Given the description of an element on the screen output the (x, y) to click on. 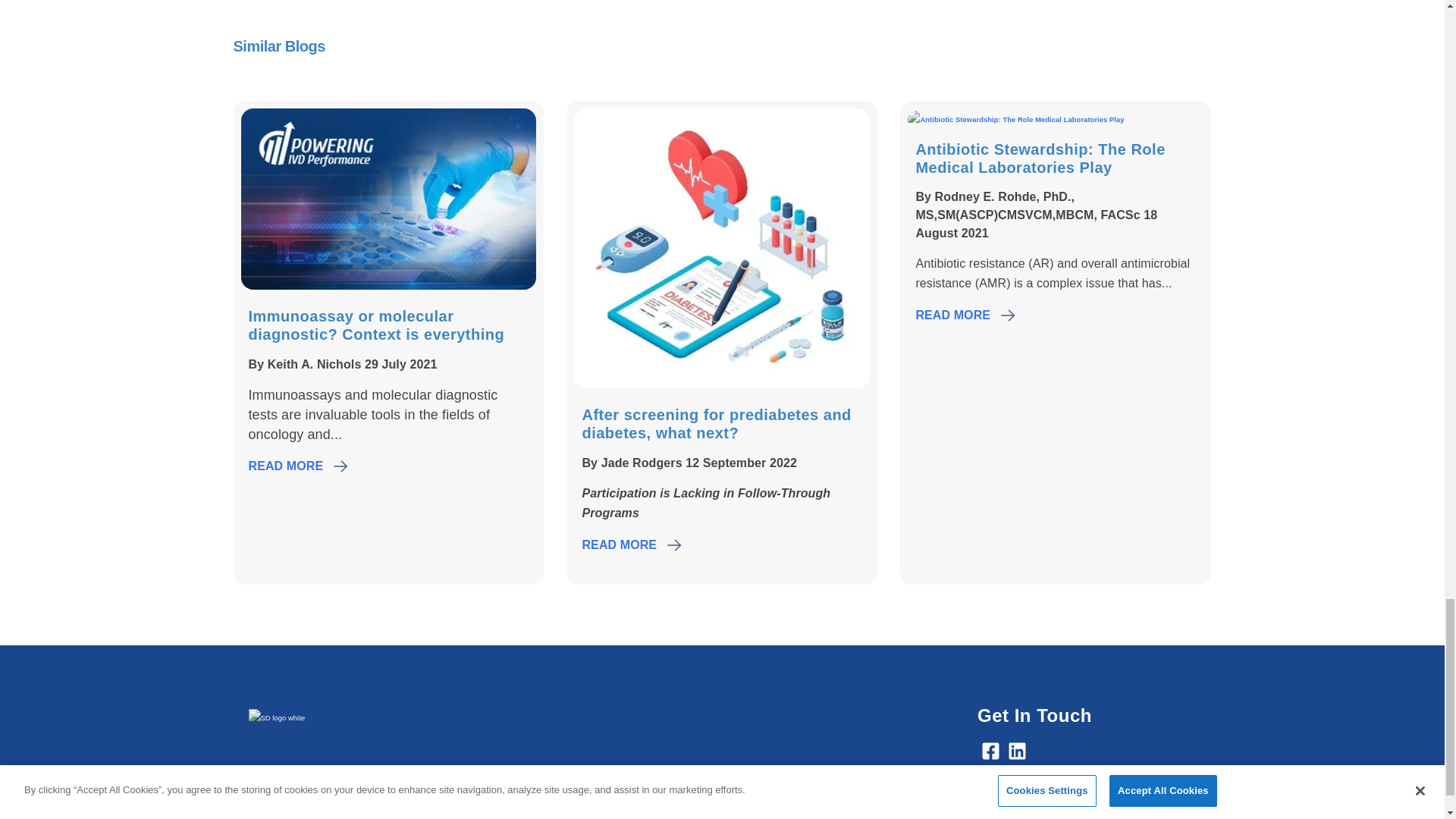
After screening for prediabetes and diabetes, what next? (715, 423)
READ MORE (285, 466)
By Jade Rodgers 12 September 2022 (688, 463)
By Keith A. Nichols 29 July 2021 (343, 364)
READ MORE (618, 545)
READ MORE (952, 315)
Immunoassay or molecular diagnostic? Context is everything (376, 325)
Antibiotic Stewardship: The Role Medical Laboratories Play (1039, 158)
